Given the description of an element on the screen output the (x, y) to click on. 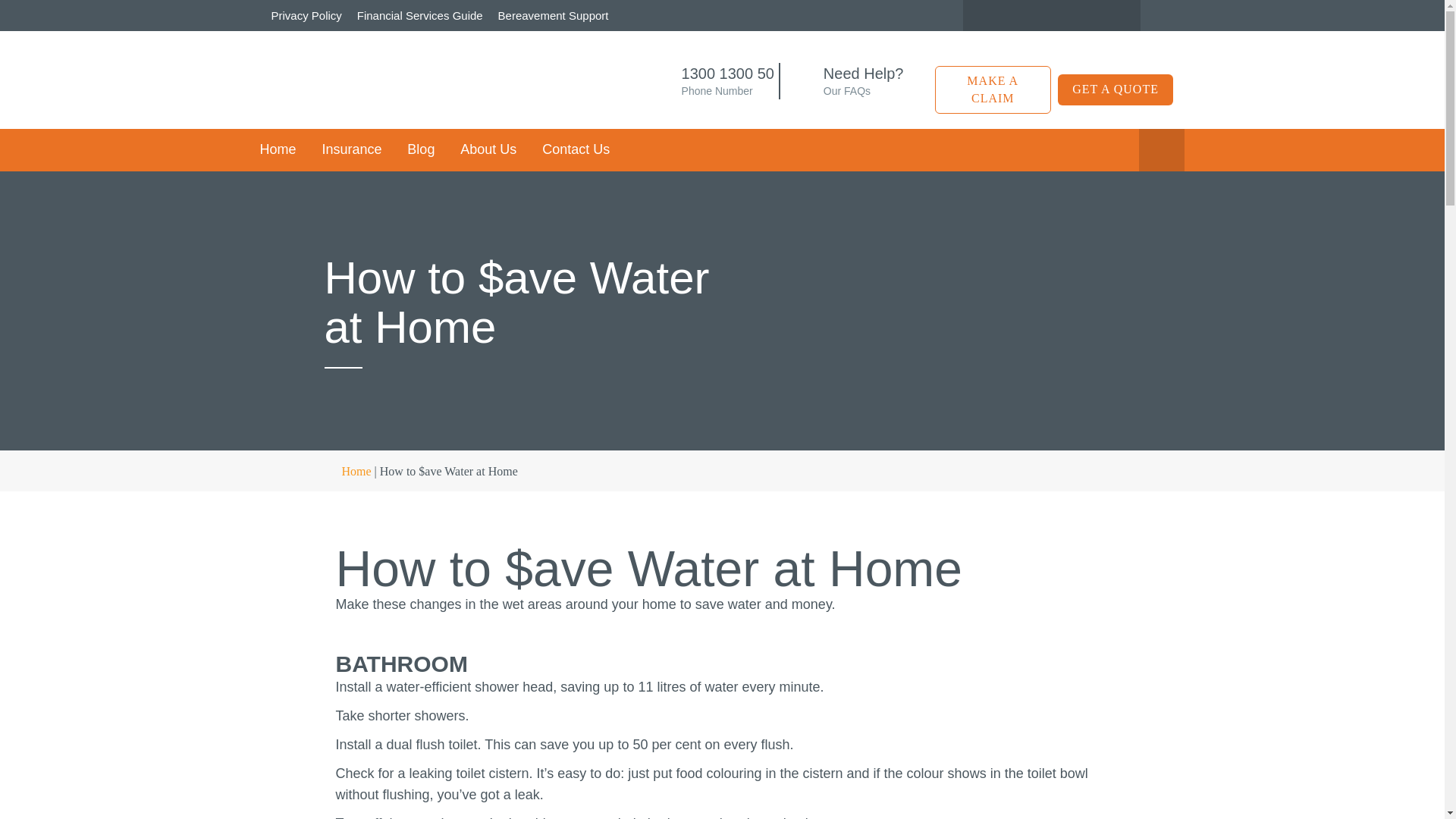
Go to COTA Insurance. (347, 471)
Insurance (351, 149)
Contact Us (576, 149)
Need Help? (864, 73)
Bereavement Support (553, 15)
Privacy Policy (308, 15)
Blog (420, 149)
1300 1300 50 (727, 73)
Home (283, 149)
Financial Services Guide (419, 15)
